Given the description of an element on the screen output the (x, y) to click on. 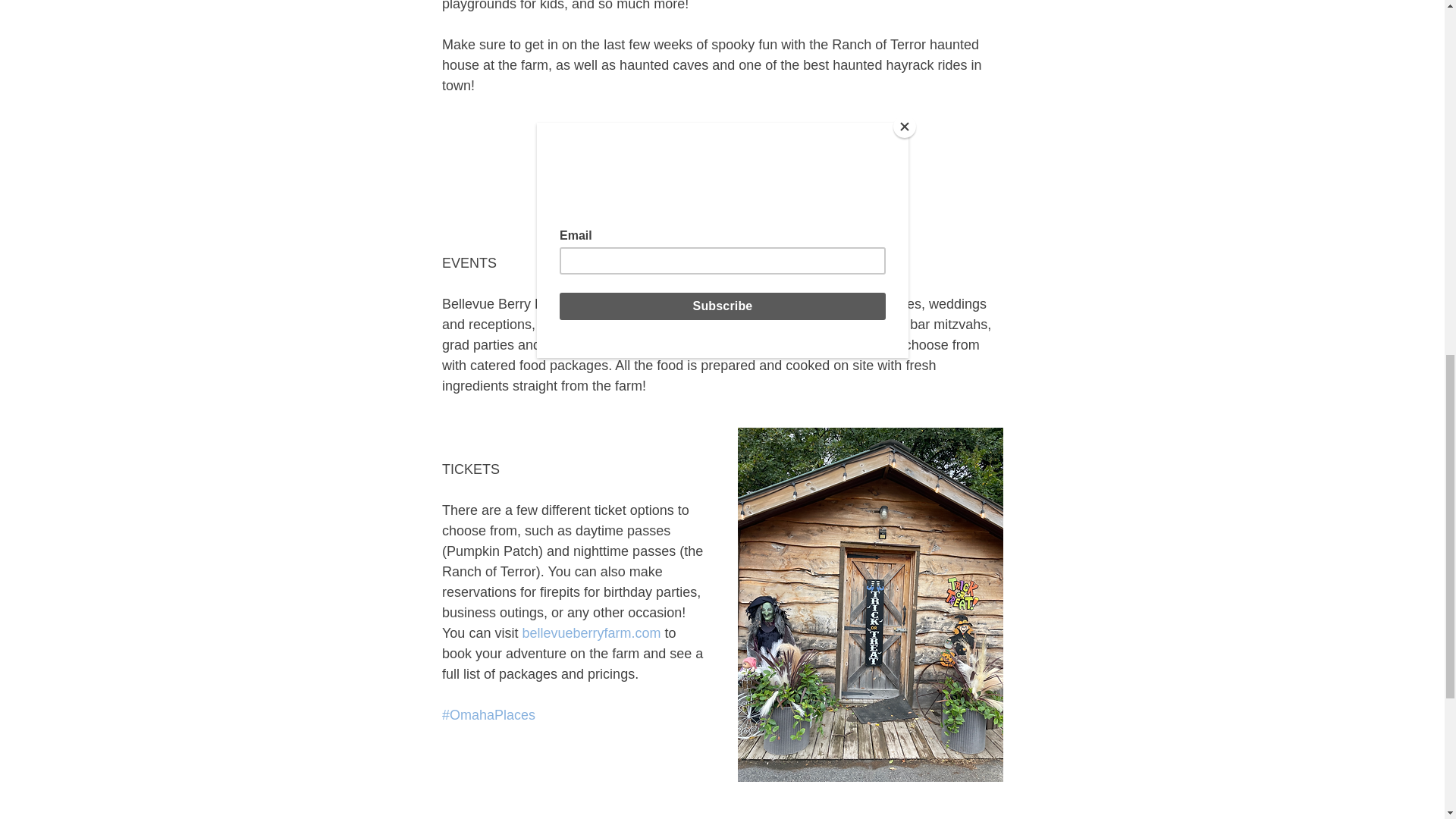
bellevueberryfarm.com (591, 632)
